Given the description of an element on the screen output the (x, y) to click on. 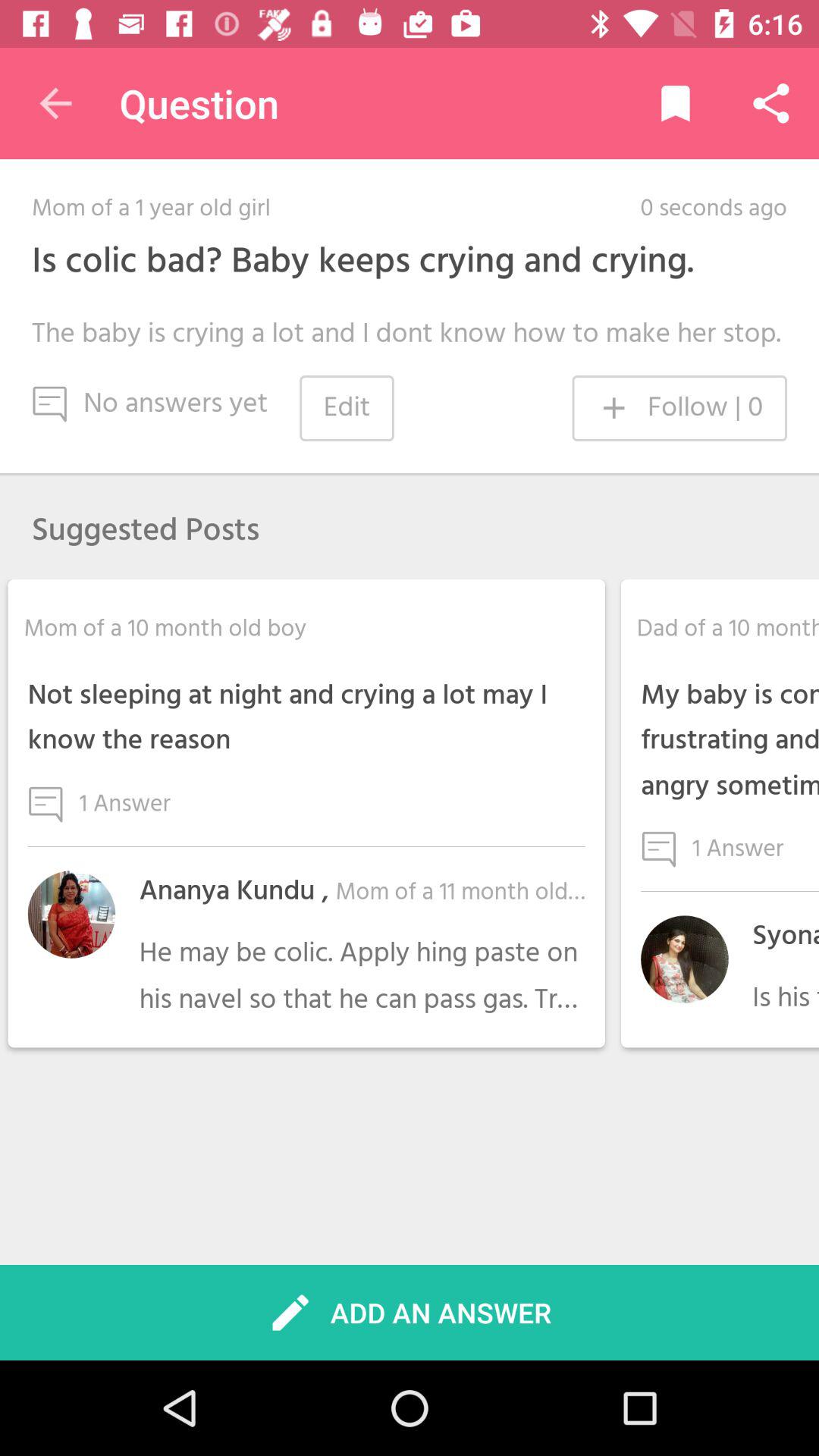
choose add an answer (408, 1312)
